Given the description of an element on the screen output the (x, y) to click on. 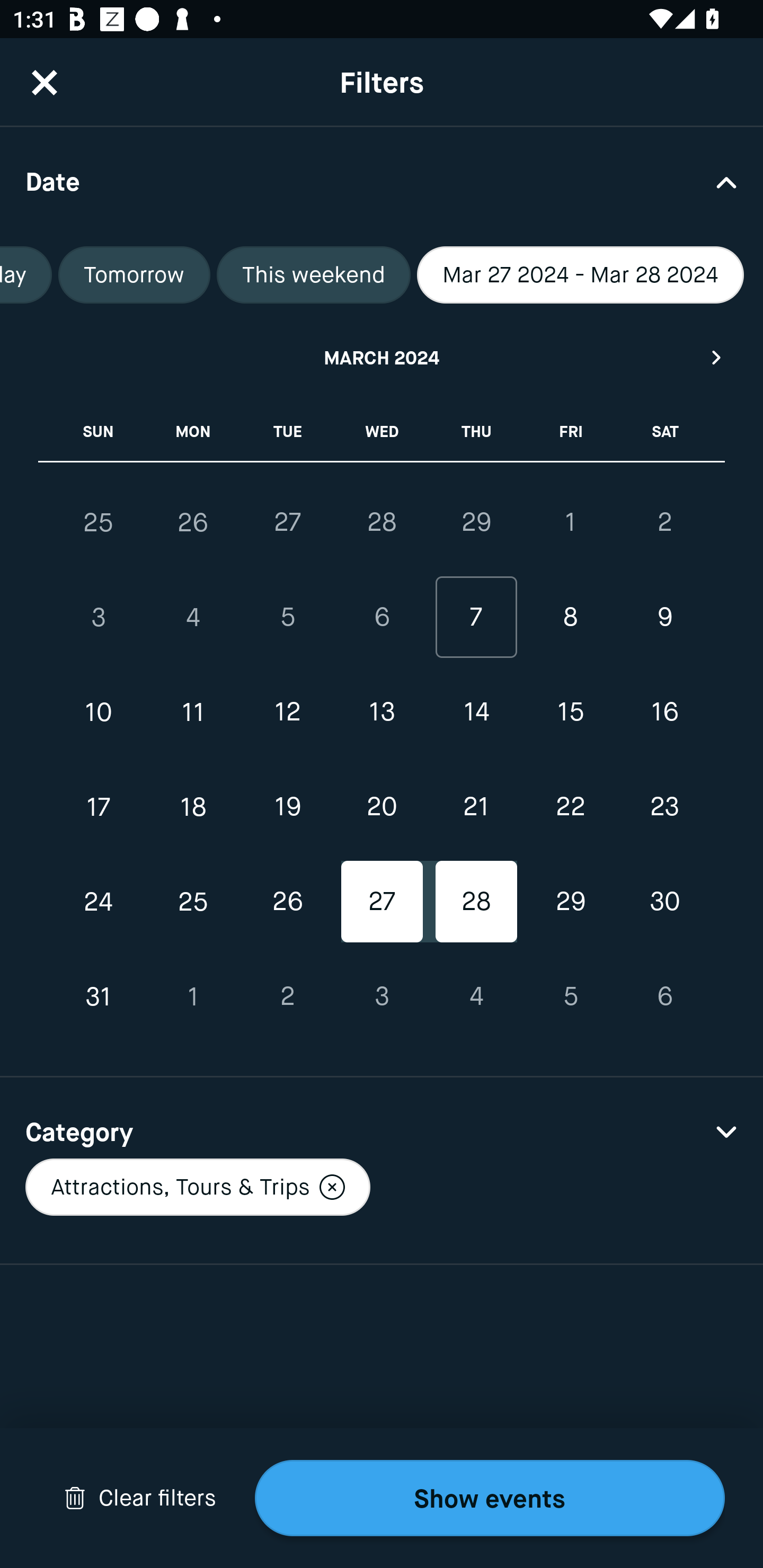
CloseButton (44, 82)
Date Drop Down Arrow (381, 181)
Tomorrow (133, 274)
This weekend (313, 274)
Mar 27 2024 - Mar 28 2024 (580, 274)
Next (717, 357)
25 (98, 522)
26 (192, 522)
27 (287, 522)
28 (381, 522)
29 (475, 522)
1 (570, 522)
2 (664, 522)
3 (98, 617)
4 (192, 617)
5 (287, 617)
6 (381, 617)
7 (475, 617)
8 (570, 617)
9 (664, 617)
10 (98, 711)
11 (192, 711)
12 (287, 711)
13 (381, 711)
14 (475, 711)
15 (570, 711)
16 (664, 711)
17 (98, 806)
18 (192, 806)
19 (287, 806)
20 (381, 806)
21 (475, 806)
22 (570, 806)
23 (664, 806)
24 (98, 901)
25 (192, 901)
26 (287, 901)
27 (381, 901)
28 (475, 901)
29 (570, 901)
30 (664, 901)
31 (98, 996)
1 (192, 996)
2 (287, 996)
3 (381, 996)
4 (475, 996)
5 (570, 996)
6 (664, 996)
Attractions, Tours & Trips Localized description (197, 1186)
Drop Down Arrow Clear filters (139, 1497)
Show events (489, 1497)
